Given the description of an element on the screen output the (x, y) to click on. 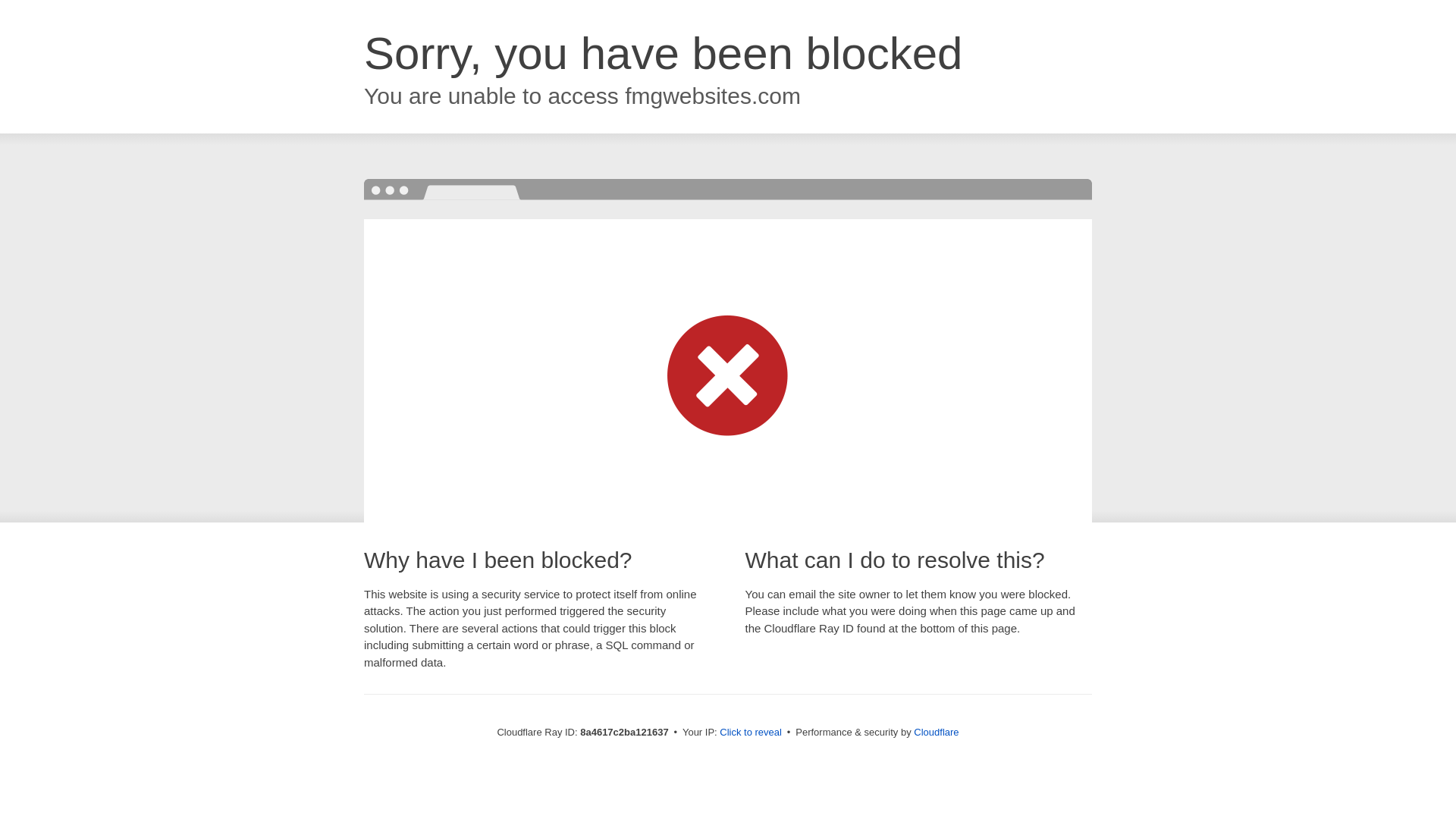
Click to reveal (750, 732)
Cloudflare (936, 731)
